Given the description of an element on the screen output the (x, y) to click on. 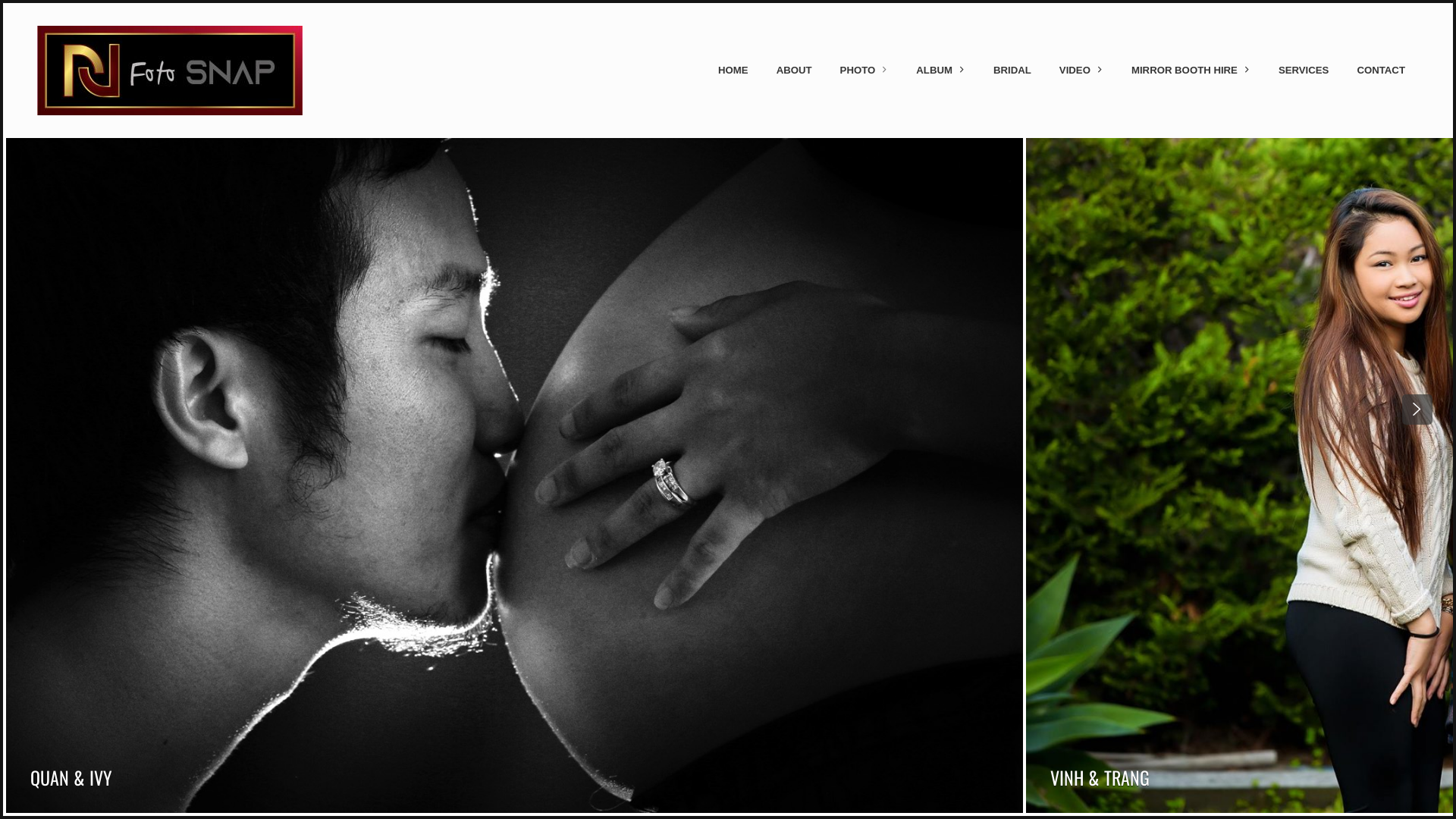
BRIDAL Element type: text (1011, 70)
ABOUT Element type: text (793, 70)
SERVICES Element type: text (1303, 70)
VIDEO Element type: text (1080, 70)
VINH & TRANG Element type: text (1099, 776)
CONTACT Element type: text (1381, 70)
QUAN & IVY Element type: text (71, 776)
Skip to content Element type: text (37, 69)
HOME Element type: text (732, 70)
PHOTO Element type: text (863, 70)
MIRROR BOOTH HIRE Element type: text (1190, 70)
ALBUM Element type: text (940, 70)
